Given the description of an element on the screen output the (x, y) to click on. 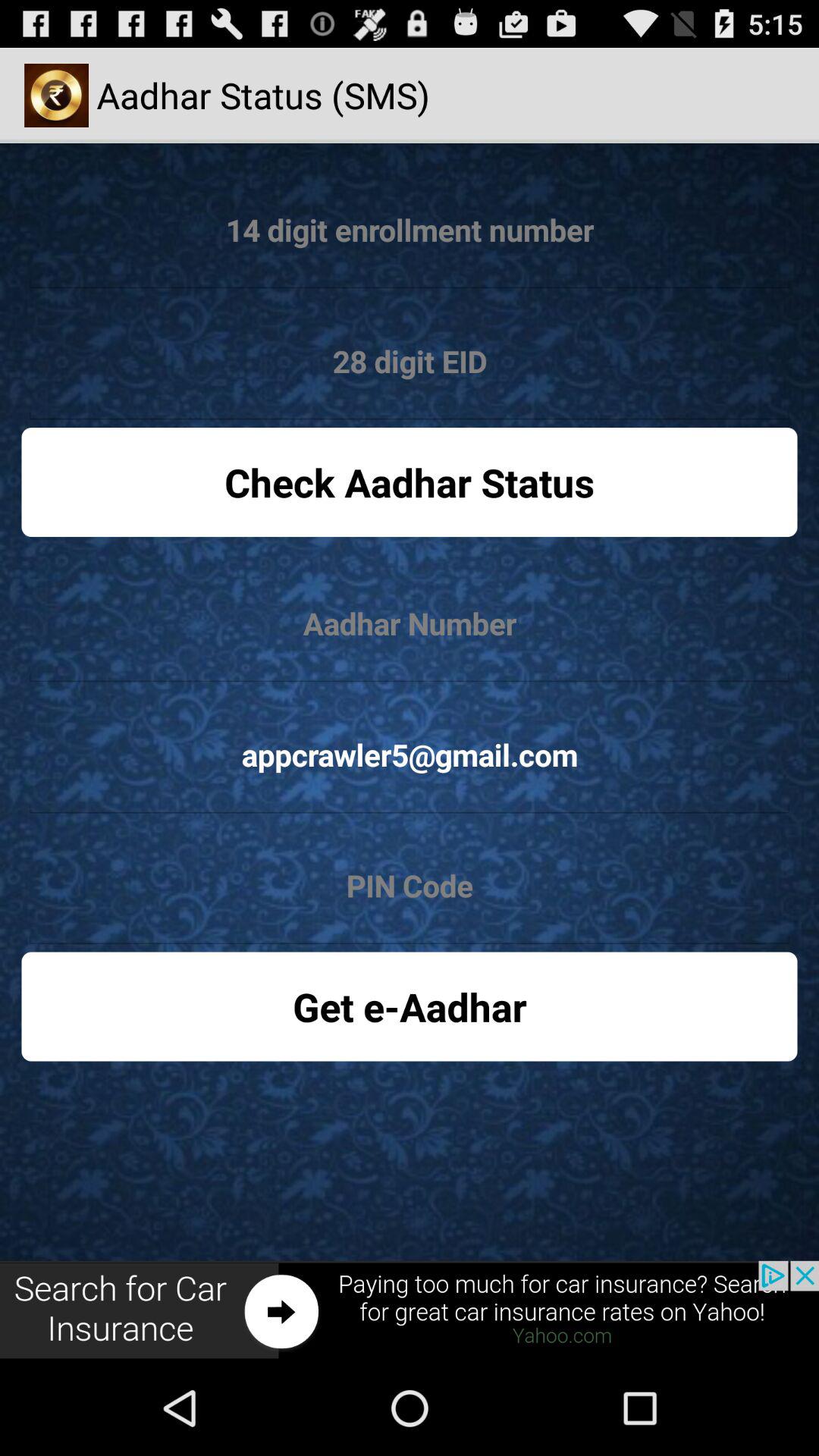
advertisement banner (409, 1310)
